Given the description of an element on the screen output the (x, y) to click on. 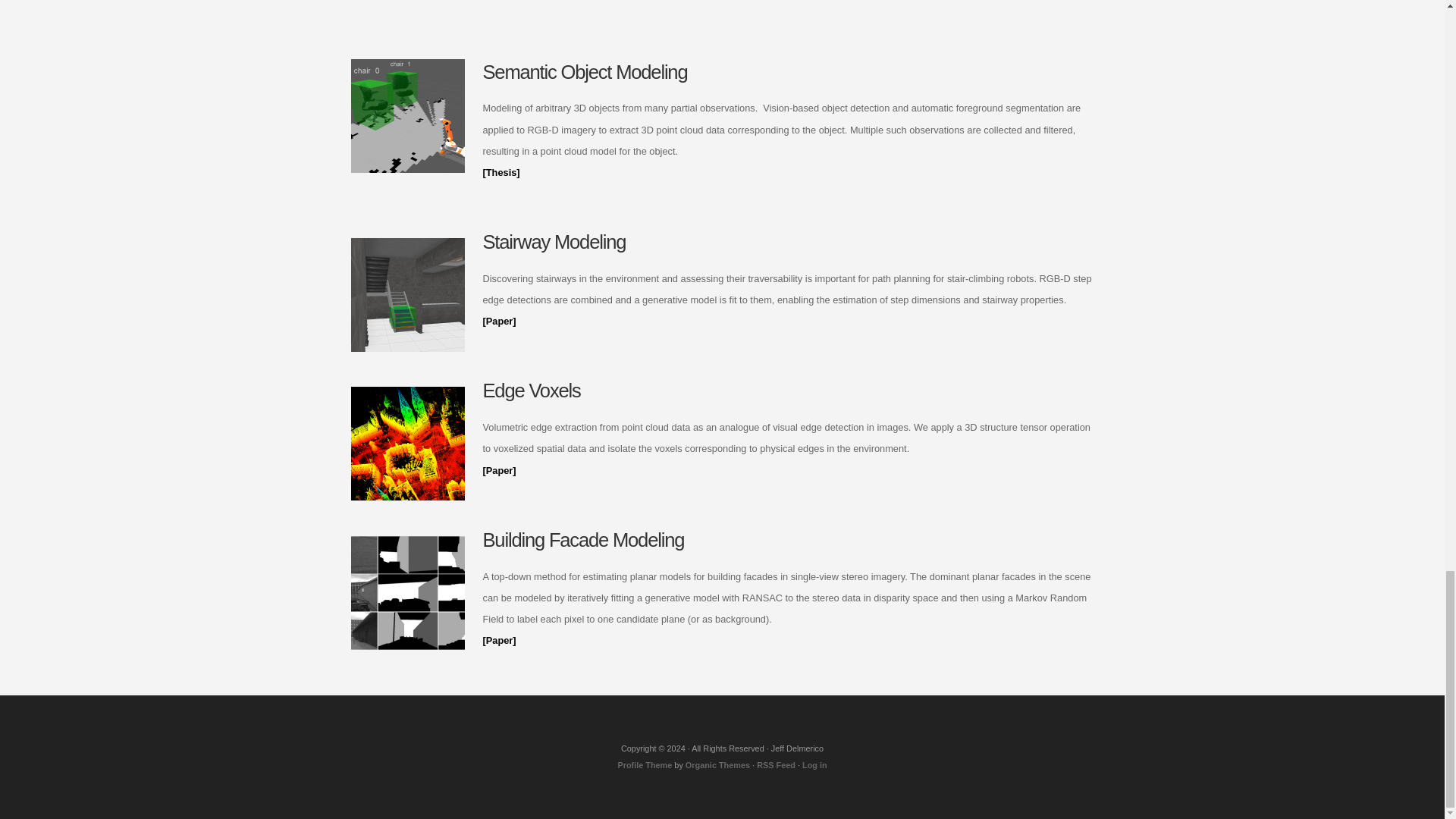
RSS Feed (775, 764)
Log in (814, 764)
Organic Themes (717, 764)
Profile Theme (644, 764)
